Given the description of an element on the screen output the (x, y) to click on. 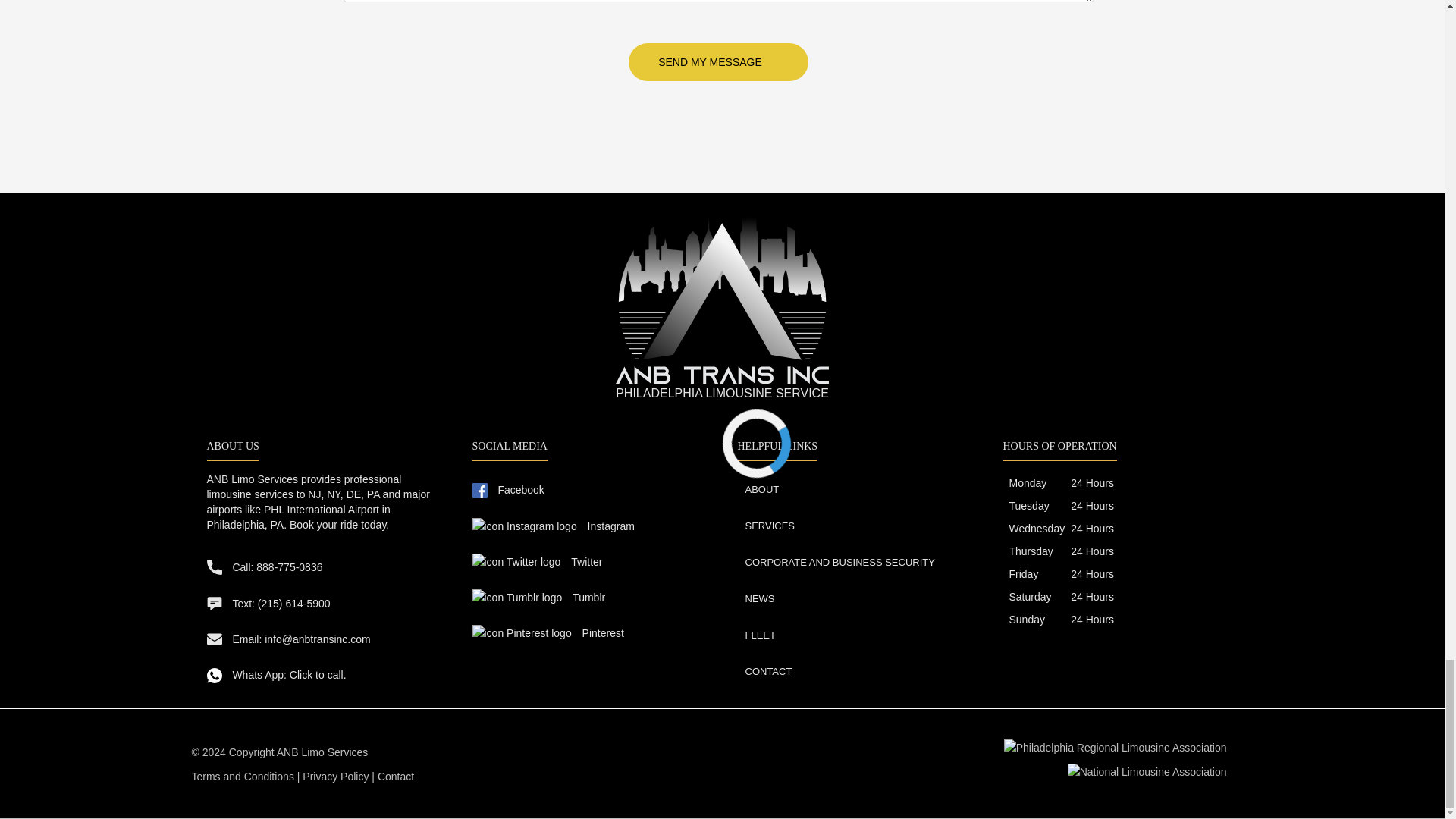
Instagram (552, 524)
PHILADELPHIA LIMOUSINE SERVICE (721, 309)
Tumblr (538, 597)
Twitter (536, 561)
SEND MY MESSAGE (718, 62)
CORPORATE AND BUSINESS SECURITY (839, 562)
SERVICES (769, 525)
Call: 888-775-0836 (263, 566)
Facebook (507, 488)
Pinterest (547, 632)
